Given the description of an element on the screen output the (x, y) to click on. 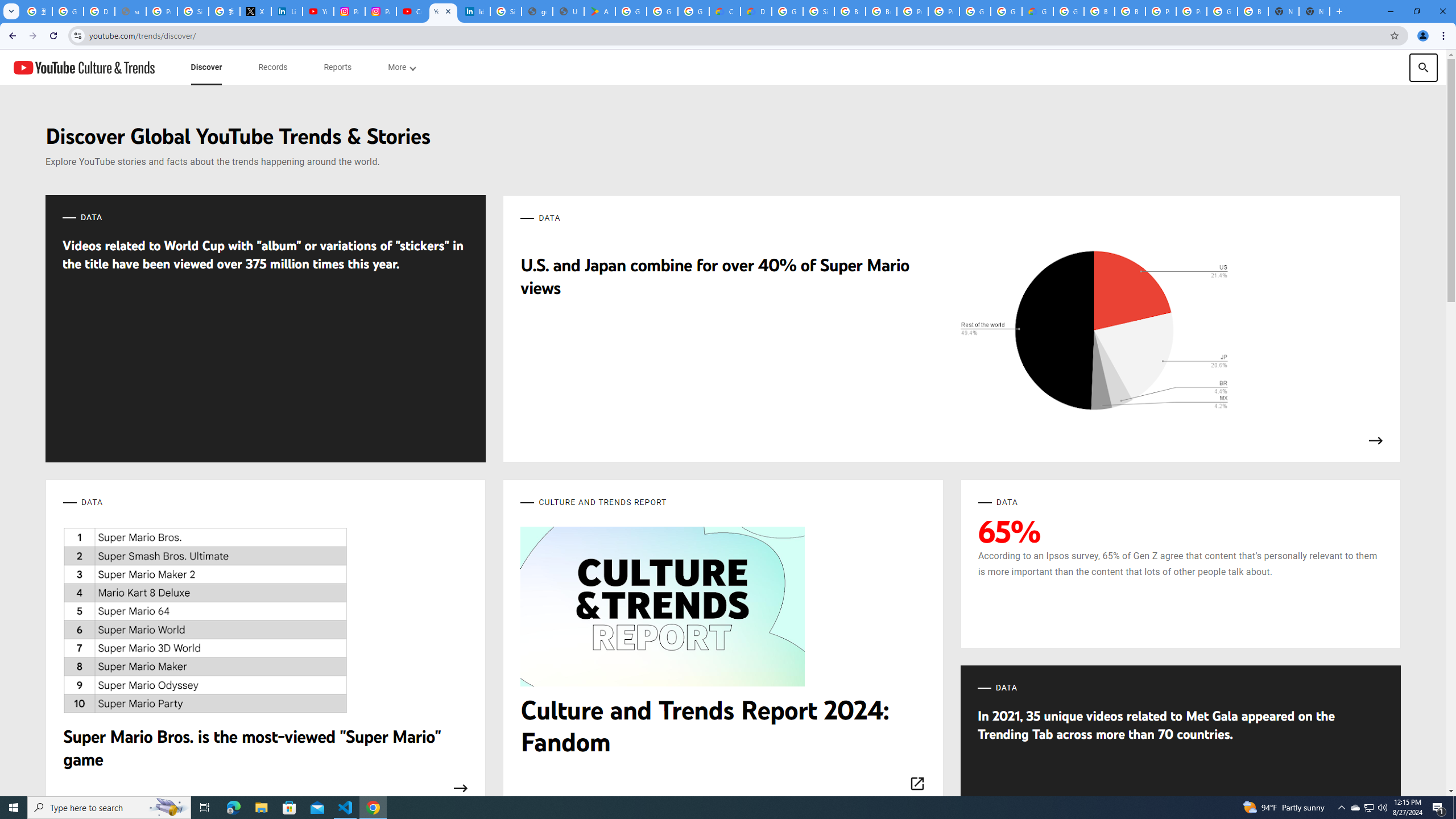
Android Apps on Google Play (599, 11)
X (255, 11)
Google Cloud Estimate Summary (1037, 11)
Google Cloud Platform (974, 11)
subnav-Discover menupopup (205, 67)
Google Cloud Platform (787, 11)
New Tab (1314, 11)
Customer Care | Google Cloud (724, 11)
